Given the description of an element on the screen output the (x, y) to click on. 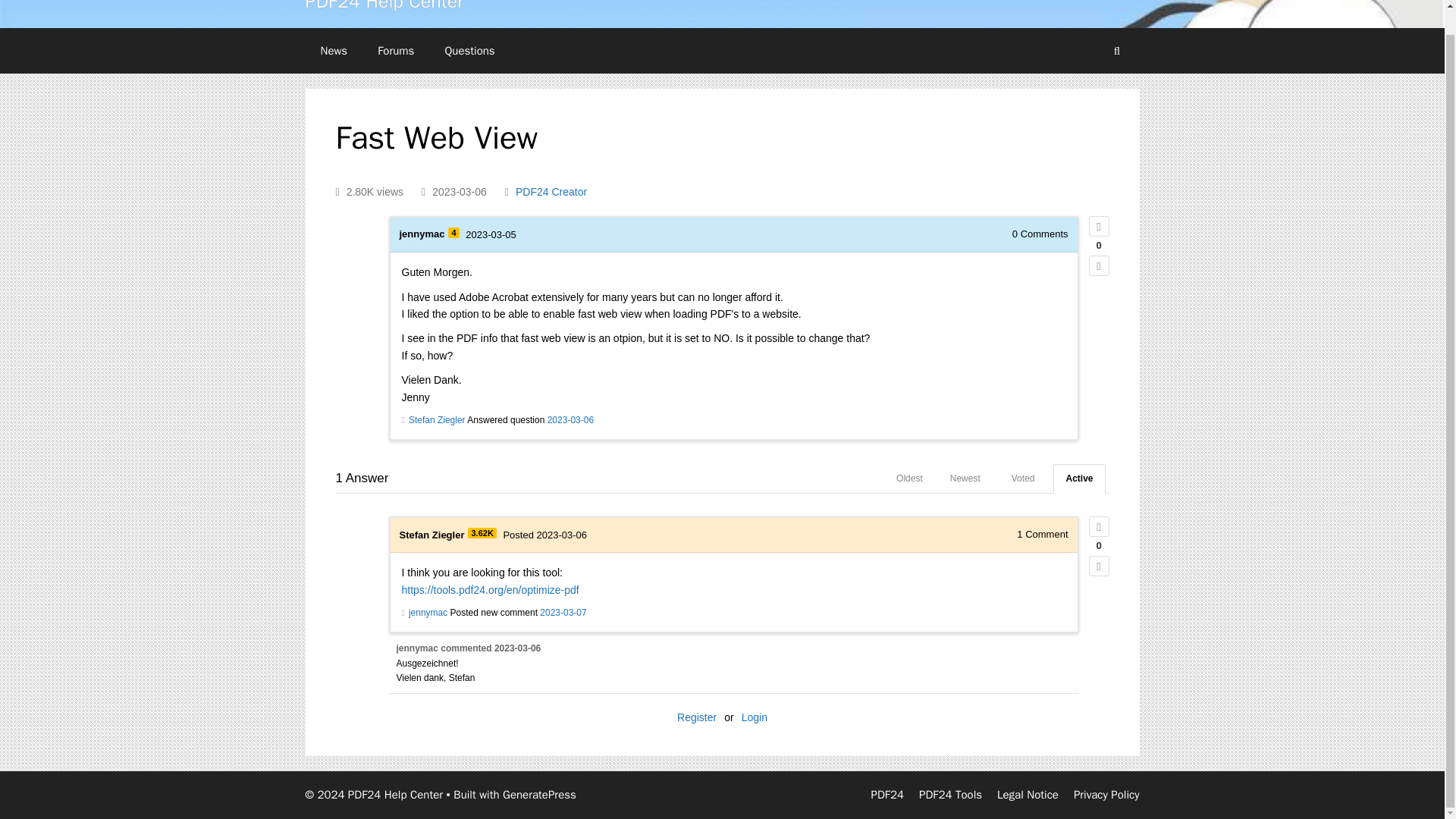
Questions (469, 50)
Register (696, 717)
Newest (964, 478)
2023-03-06 (517, 647)
Reputation (481, 532)
jennymac (421, 233)
PDF24 (887, 794)
Legal Notice (1027, 794)
Privacy Policy (1107, 794)
Reputation (453, 232)
